Given the description of an element on the screen output the (x, y) to click on. 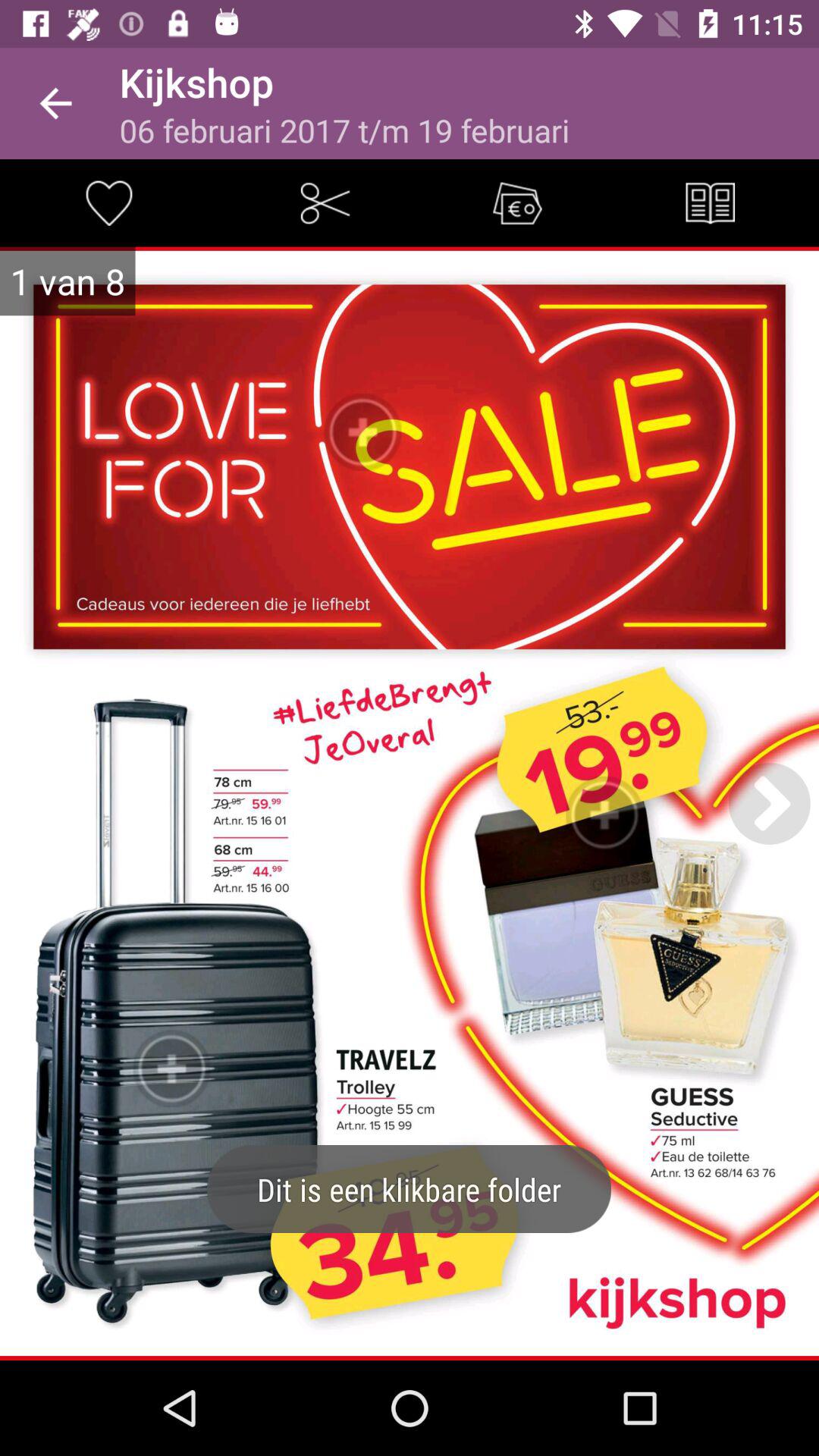
launch item to the left of kijkshop icon (55, 103)
